Given the description of an element on the screen output the (x, y) to click on. 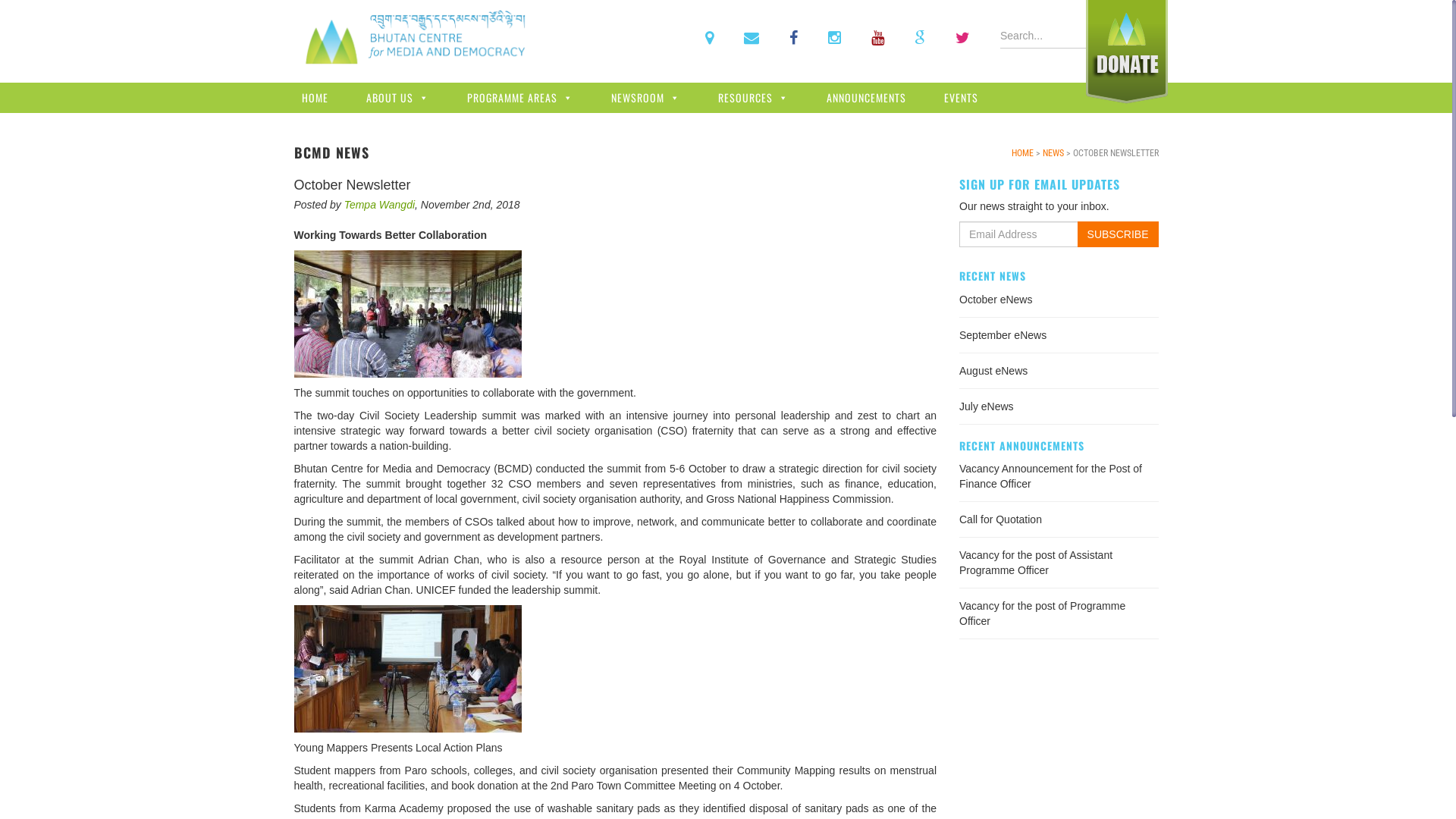
EVENTS Element type: text (960, 97)
PROGRAMME AREAS Element type: text (519, 97)
HOME Element type: text (1022, 152)
October eNews Element type: text (995, 299)
September eNews Element type: text (1002, 335)
August eNews Element type: text (993, 370)
NEWSROOM Element type: text (645, 97)
July eNews Element type: text (986, 406)
ABOUT US Element type: text (396, 97)
Call for Quotation Element type: text (1000, 519)
Vacancy for the post of Assistant Programme Officer Element type: text (1035, 562)
Vacancy for the post of Programme Officer Element type: text (1042, 613)
HOME Element type: text (314, 97)
Vacancy Announcement for the Post of Finance Officer Element type: text (1050, 475)
ANNOUNCEMENTS Element type: text (866, 97)
RESOURCES Element type: text (752, 97)
SUBSCRIBE Element type: text (1117, 234)
donate Element type: hover (712, 67)
NEWS Element type: text (1052, 152)
